Given the description of an element on the screen output the (x, y) to click on. 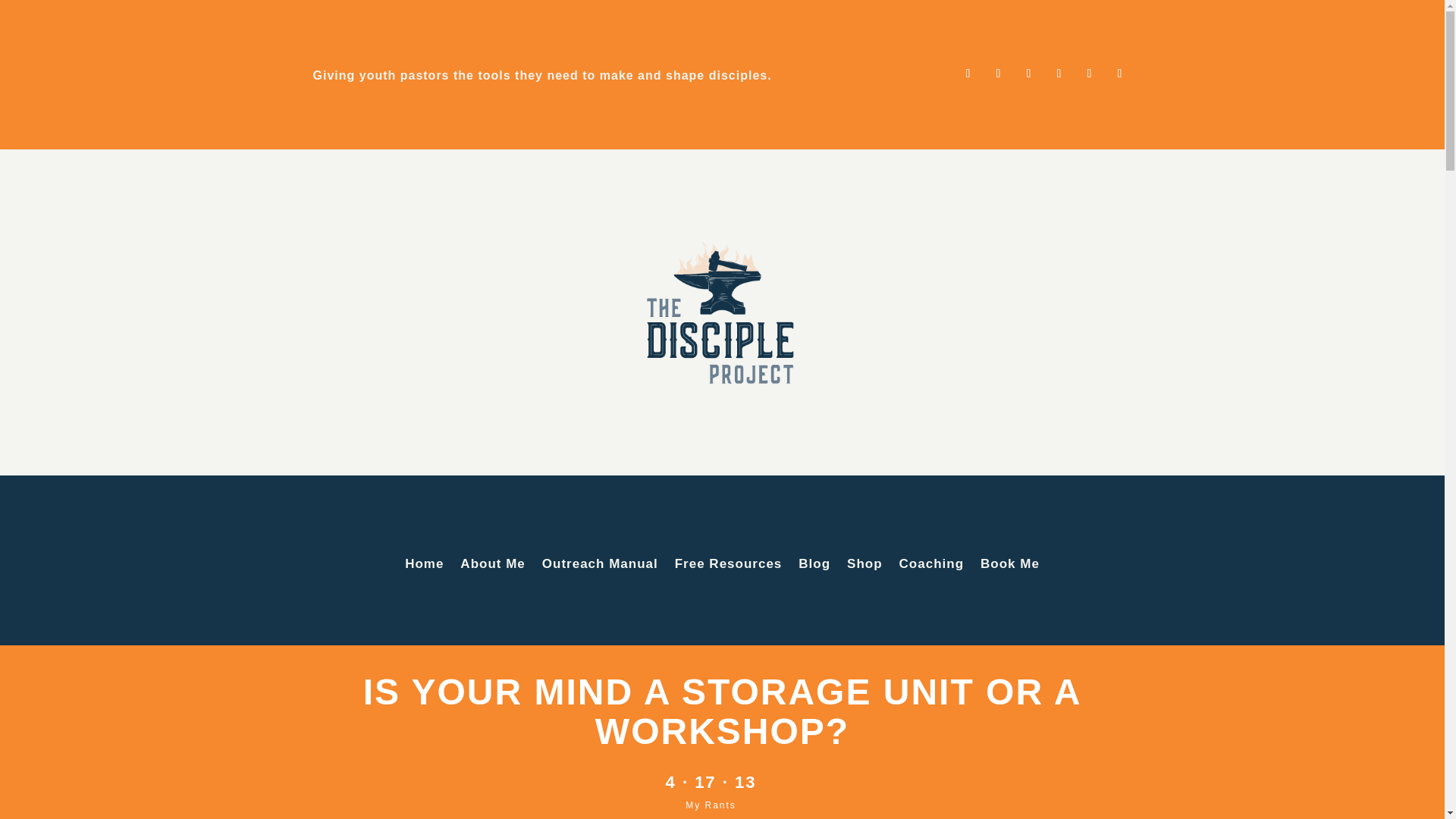
Coaching (931, 566)
TDP - Logo - Header - Centered-03 (722, 312)
Blog (813, 566)
Follow on Instagram (1028, 73)
Follow on Facebook (967, 73)
About Me (492, 566)
My Rants (710, 809)
Shop (864, 566)
Follow on LinkedIn (1058, 73)
Follow on SoundCloud (1118, 73)
Follow on X (997, 73)
Book Me (1009, 566)
Follow on Youtube (1088, 73)
Home (424, 566)
Free Resources (729, 566)
